Given the description of an element on the screen output the (x, y) to click on. 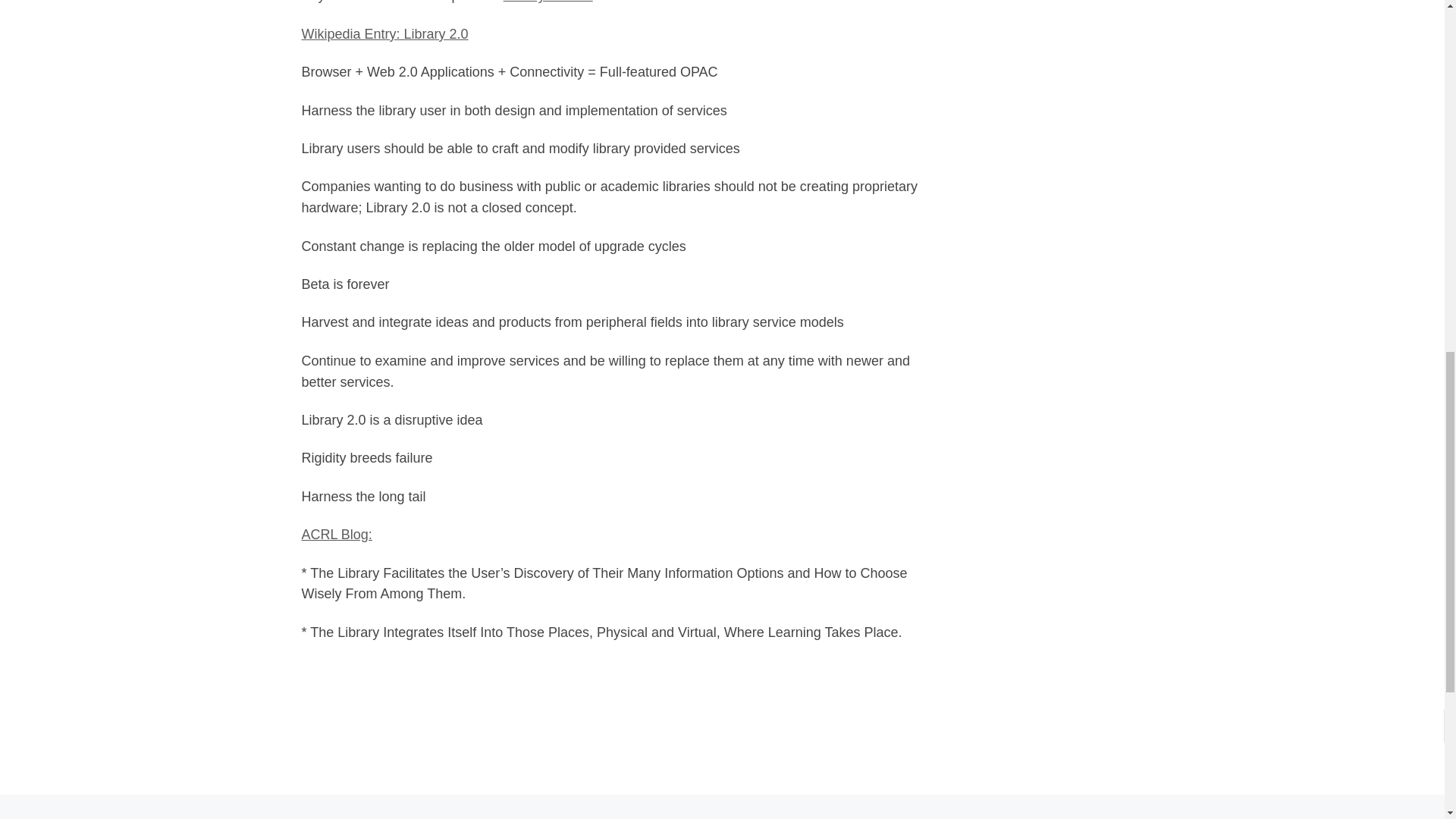
LibraryCrunch! (547, 1)
Back to post list (722, 813)
Wikipedia Entry: Library 2.0 (384, 33)
ACRL Blog: (336, 534)
